Given the description of an element on the screen output the (x, y) to click on. 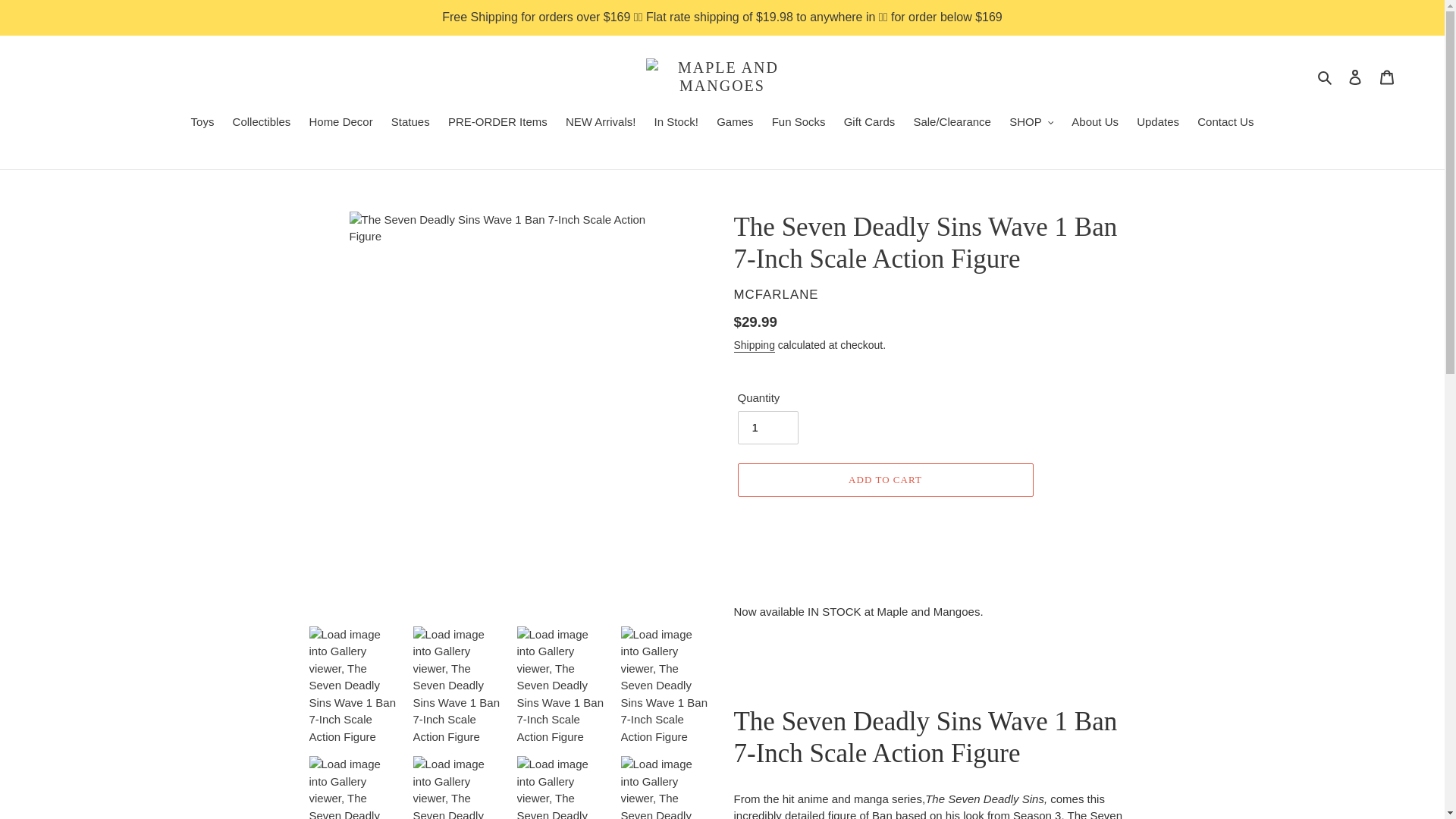
Log in (1355, 76)
1 (766, 427)
Search (1326, 76)
Home Decor (340, 123)
Collectibles (261, 123)
Statues (411, 123)
PRE-ORDER Items (497, 123)
Cart (1387, 76)
Toys (202, 123)
